Given the description of an element on the screen output the (x, y) to click on. 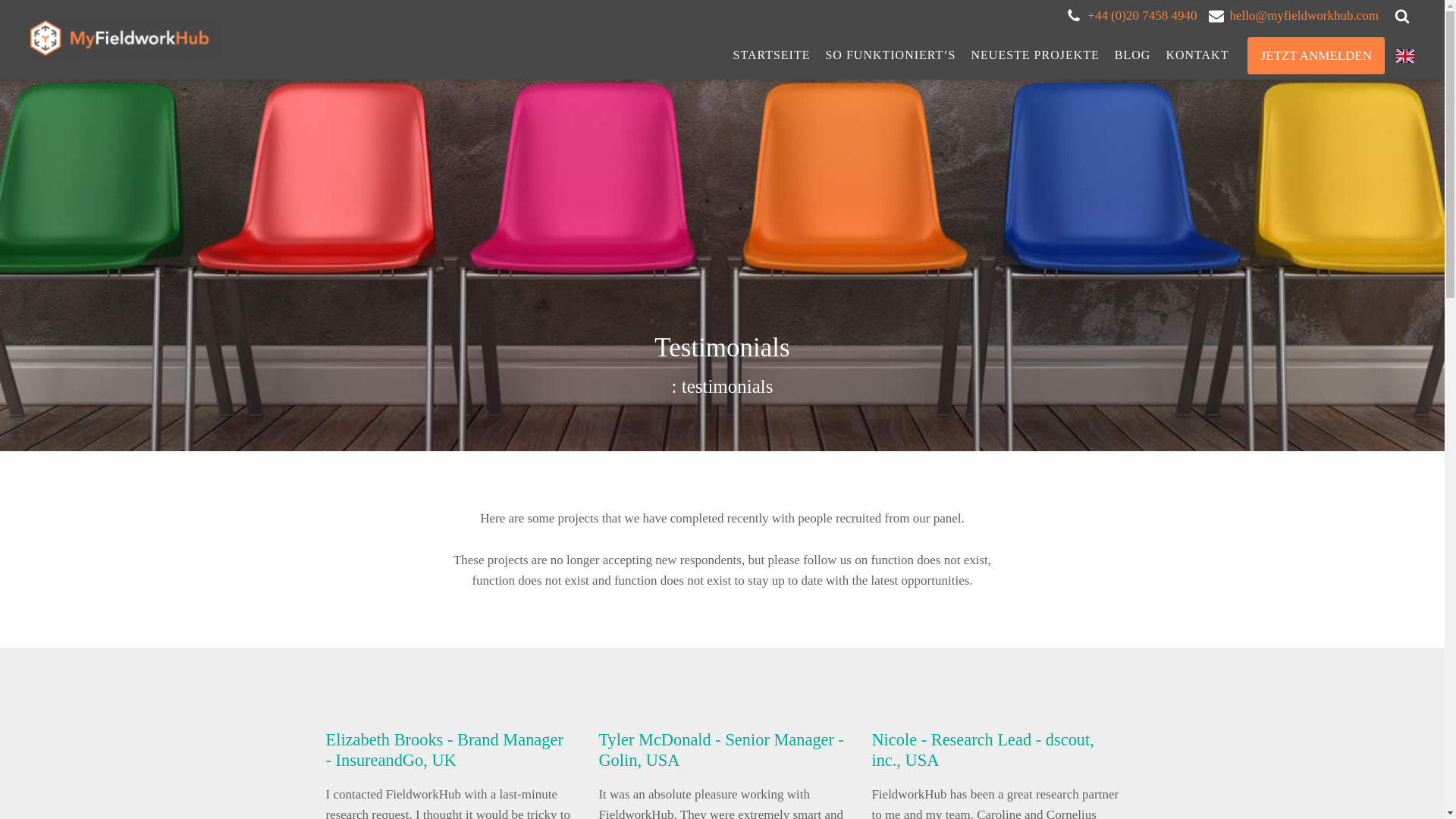
Nicole - Research Lead - dscout, inc., USA (981, 749)
JETZT ANMELDEN (1315, 55)
KONTAKT (1196, 55)
STARTSEITE (770, 55)
BLOG (1132, 55)
Elizabeth Brooks - Brand Manager - InsureandGo, UK (444, 749)
Search (26, 9)
Tyler McDonald - Senior Manager - Golin, USA (721, 749)
NEUESTE PROJEKTE (1034, 55)
